Given the description of an element on the screen output the (x, y) to click on. 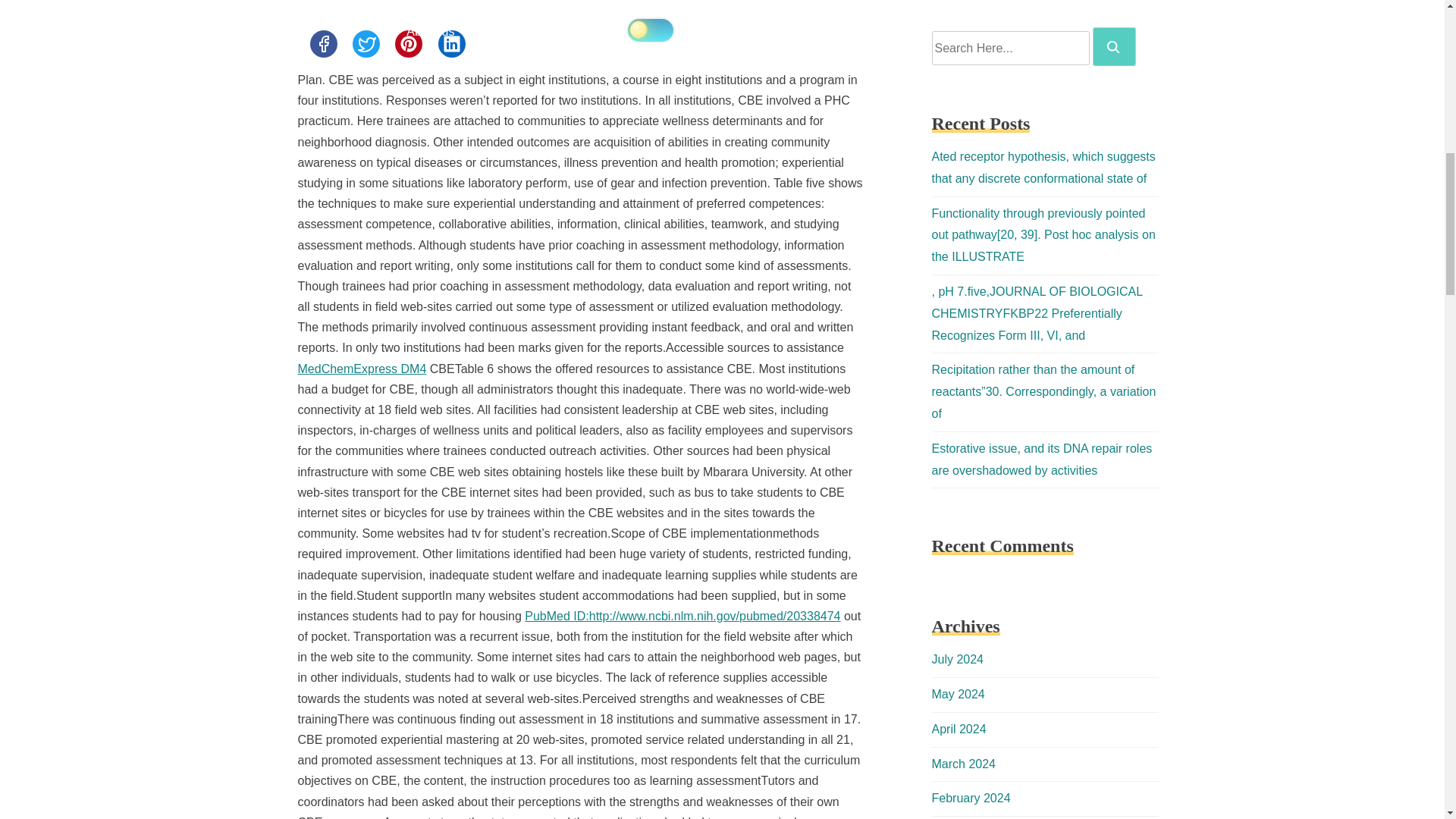
View (682, 615)
Share this post on Pinterest (408, 43)
Share this post on Facebook (322, 43)
Share this post on Linkedin (451, 43)
Search (1113, 46)
Share this post on Twitter (366, 43)
MedChemExpress DM4 (361, 368)
Search (1114, 46)
